Given the description of an element on the screen output the (x, y) to click on. 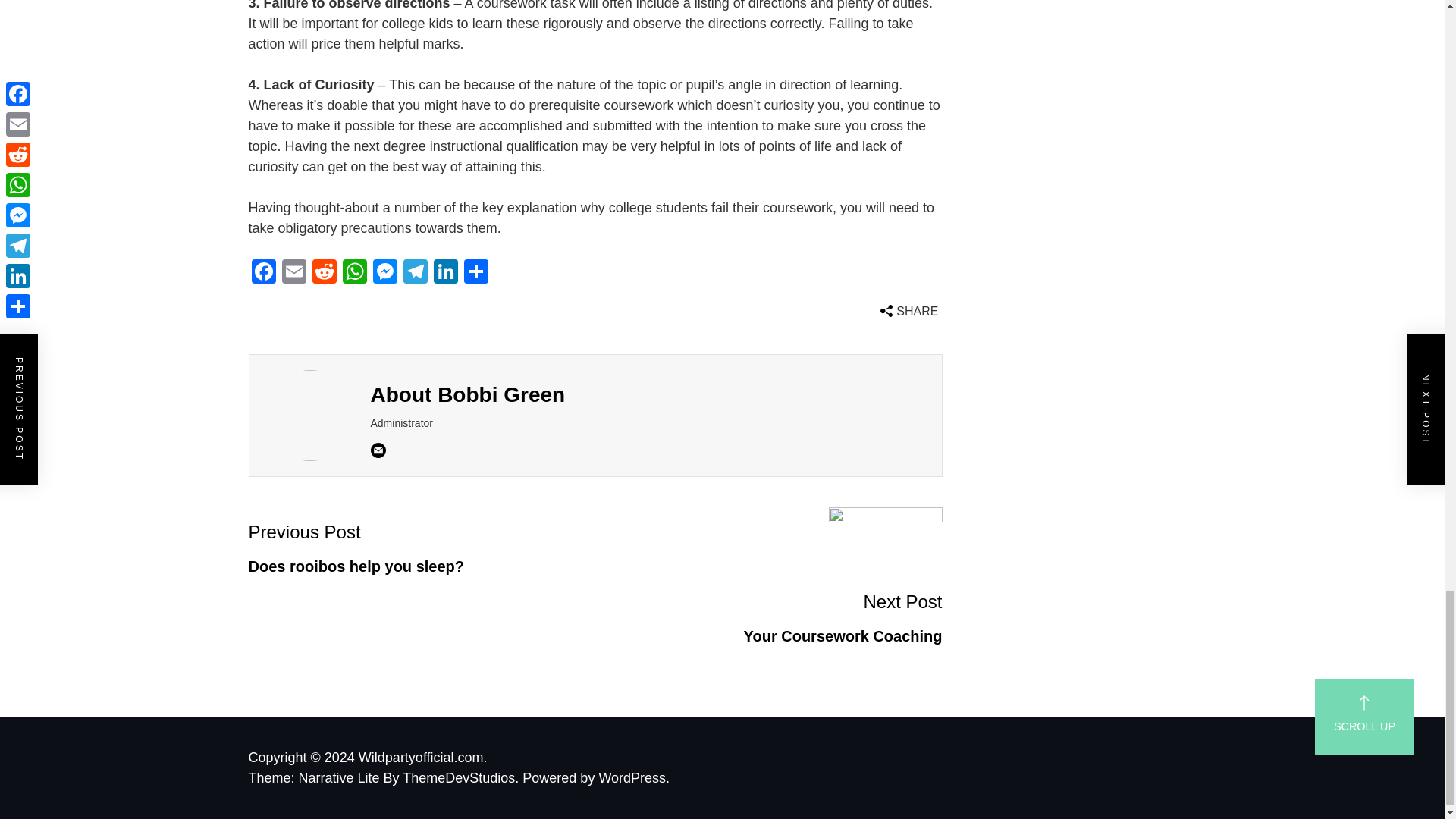
LinkedIn (445, 273)
Facebook (263, 273)
WhatsApp (354, 273)
Email (293, 273)
Messenger (384, 273)
Messenger (384, 273)
Facebook (263, 273)
Telegram (415, 273)
ThemeDevStudios (421, 547)
